Given the description of an element on the screen output the (x, y) to click on. 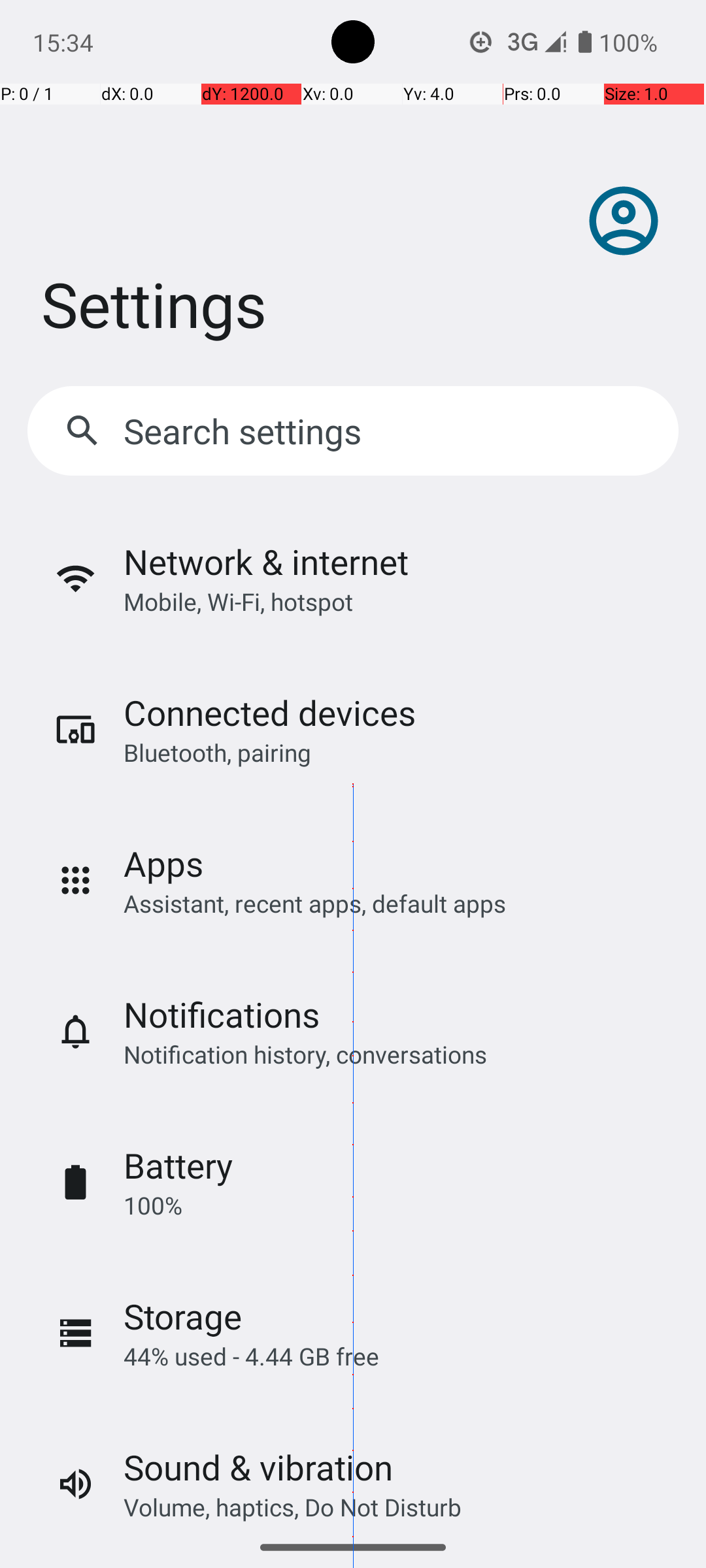
44% used - 4.44 GB free Element type: android.widget.TextView (251, 1355)
